Given the description of an element on the screen output the (x, y) to click on. 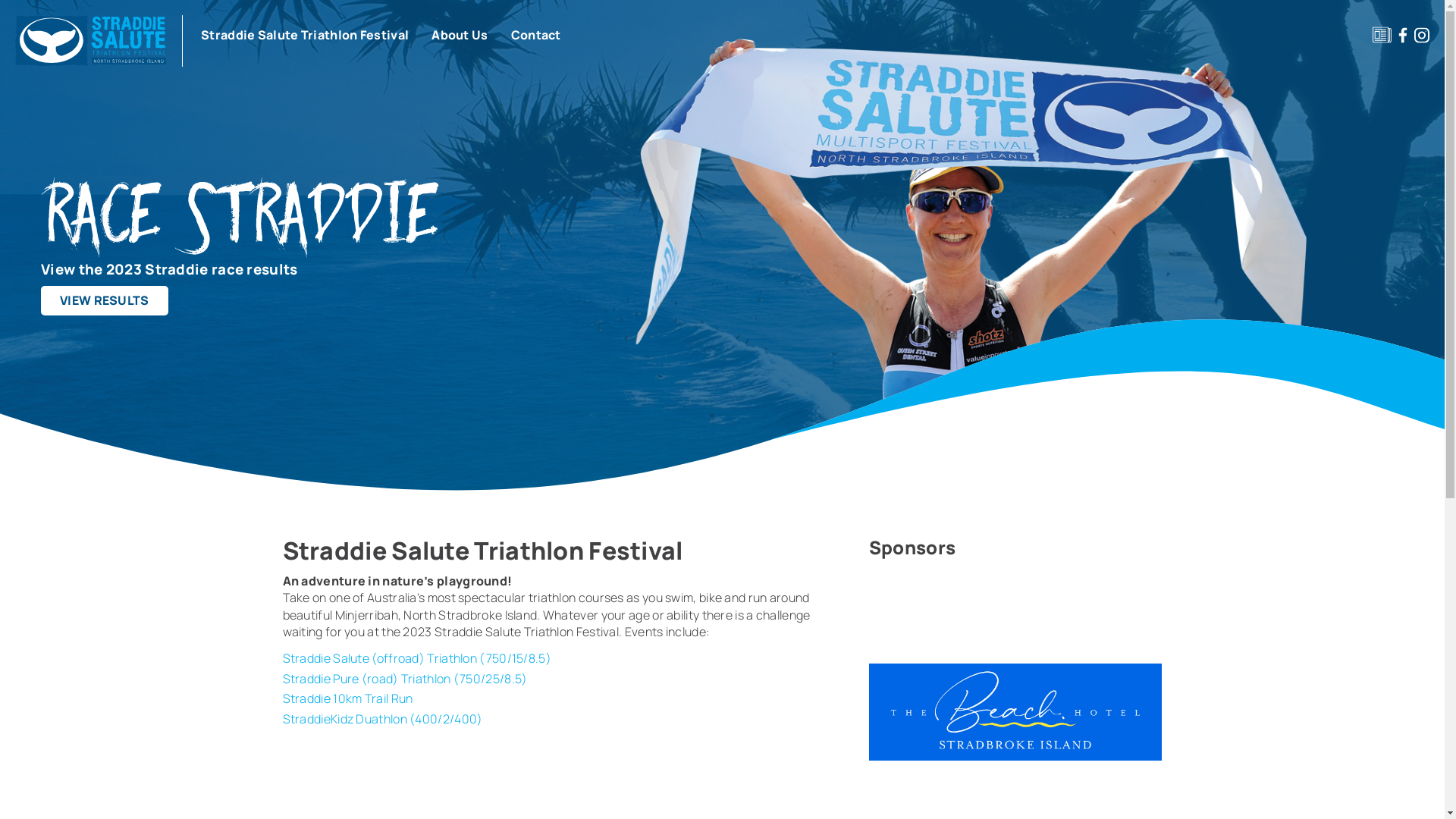
About Us Element type: text (459, 34)
StraddieKidz Duathlon (400/2/400) Element type: text (382, 718)
VIEW RESULTS Element type: text (104, 299)
Straddie Salute (offroad) Triathlon (750/15/8.5) Element type: text (416, 657)
Straddie Pure (road) Triathlon (750/25/8.5) Element type: text (404, 678)
Contact Element type: text (535, 34)
Straddie 10km Trail Run Element type: text (347, 698)
Straddie Salute Triathlon Festival Element type: text (304, 34)
